Given the description of an element on the screen output the (x, y) to click on. 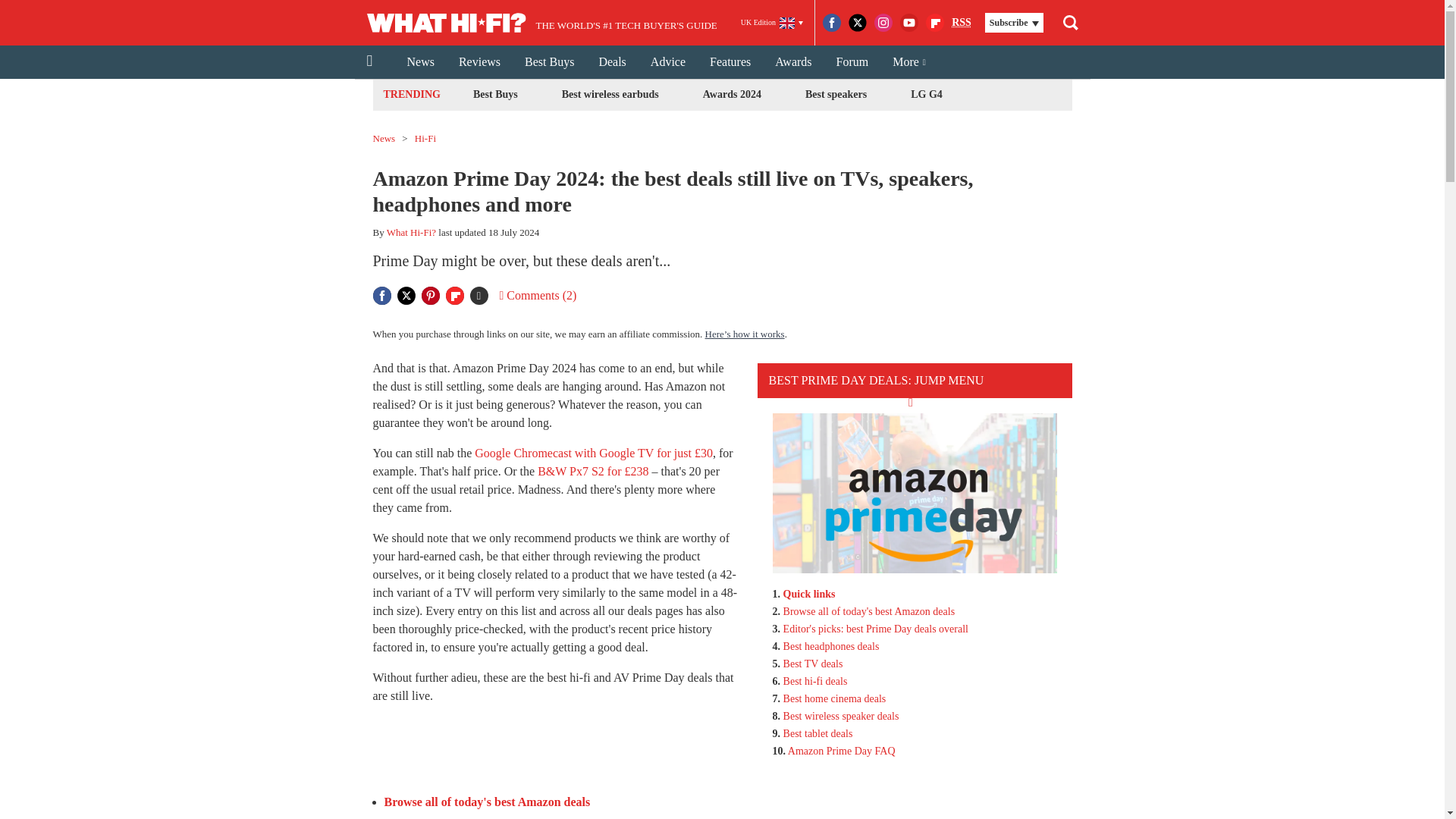
Advice (668, 61)
Best Buys (549, 61)
RSS (961, 22)
What Hi-Fi? (411, 232)
Features (729, 61)
News (419, 61)
Awards (793, 61)
Forum (852, 61)
UK Edition (771, 22)
Reviews (479, 61)
